Given the description of an element on the screen output the (x, y) to click on. 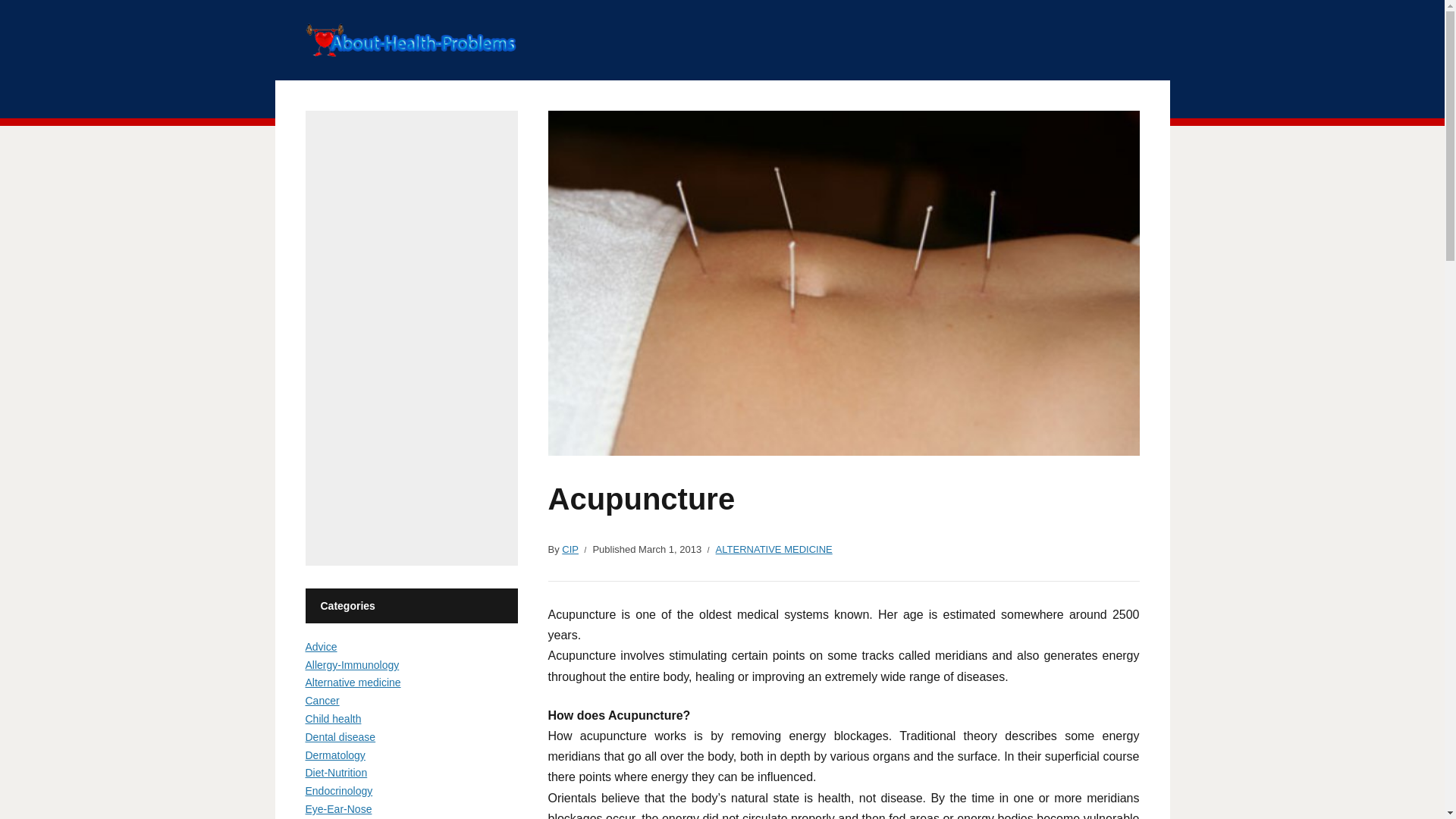
Child health (332, 718)
Posts by cip (570, 549)
Allergy-Immunology (351, 664)
Cancer (321, 700)
Dental disease (339, 736)
Eye-Ear-Nose (337, 808)
Alternative medicine (352, 682)
Diet-Nutrition (335, 772)
ALTERNATIVE MEDICINE (774, 549)
Advice (320, 646)
CIP (570, 549)
Endocrinology (338, 790)
Dermatology (334, 755)
